Given the description of an element on the screen output the (x, y) to click on. 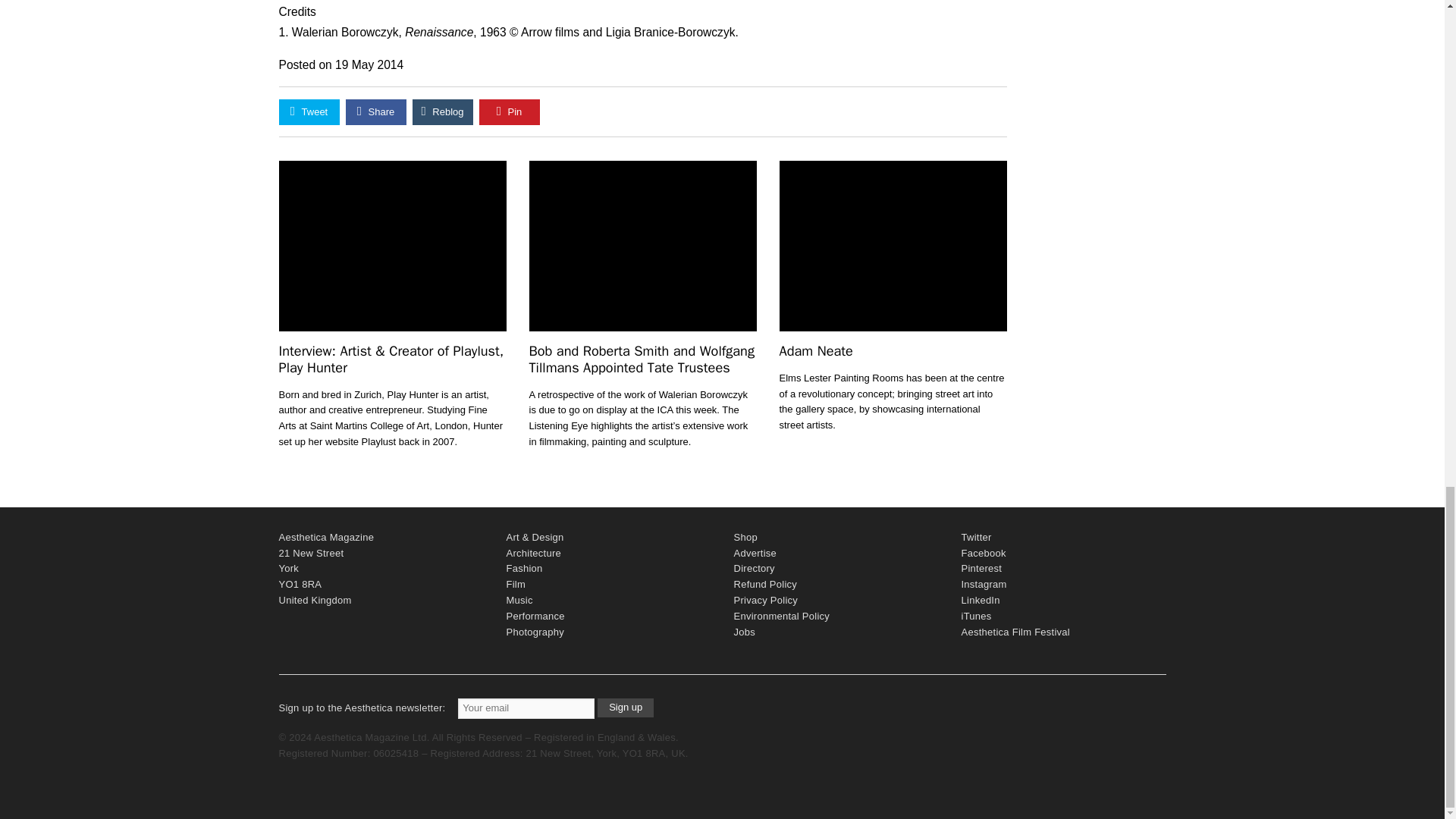
Share (376, 112)
Tweet (309, 112)
Reblog (442, 112)
Pin (509, 112)
